Given the description of an element on the screen output the (x, y) to click on. 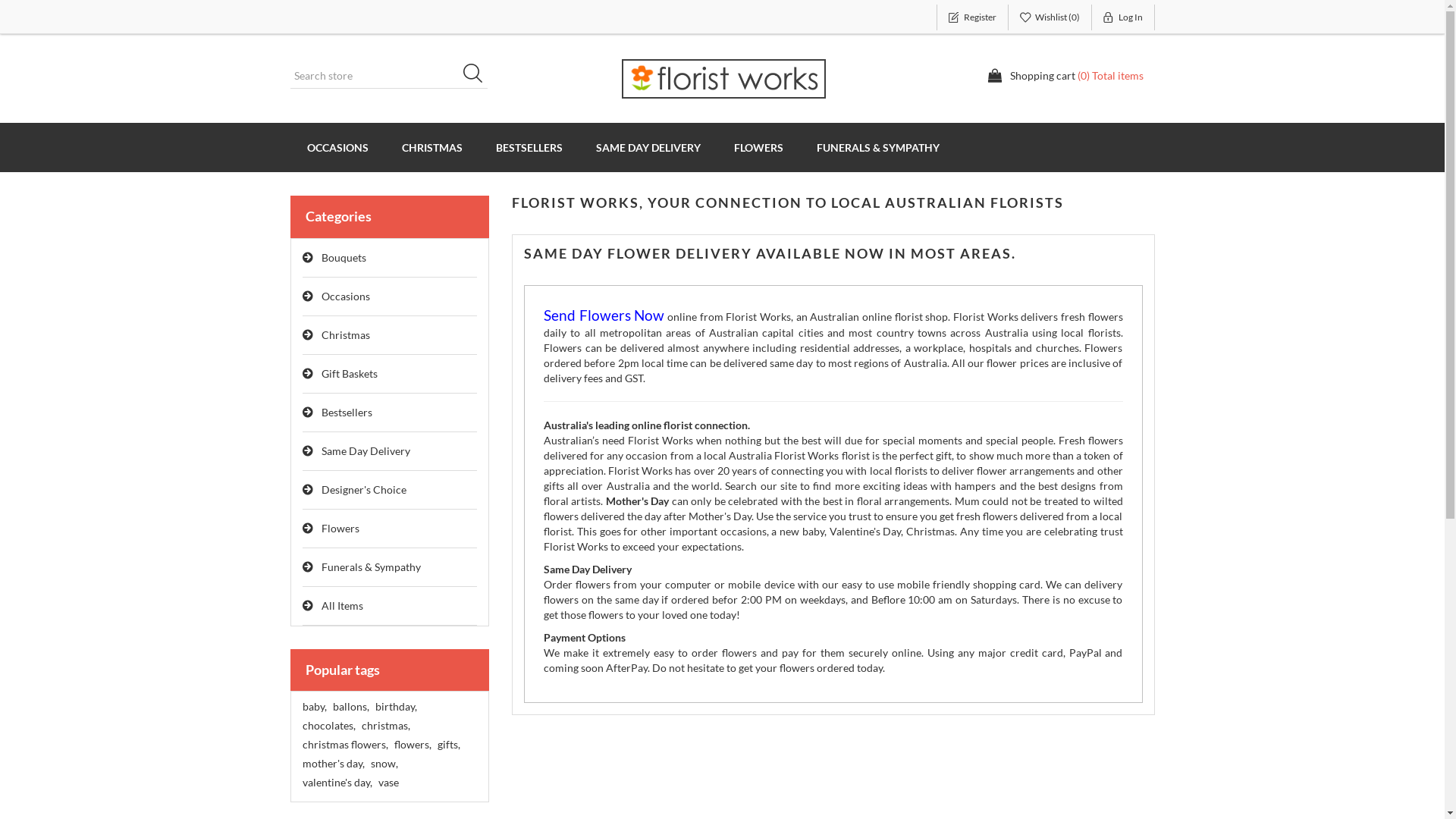
SAME DAY DELIVERY Element type: text (648, 147)
Same Day Delivery Element type: text (388, 451)
Register Element type: text (971, 17)
vase Element type: text (387, 782)
Shopping cart (0) Total items Element type: text (1065, 75)
Bouquets Element type: text (388, 257)
CHRISTMAS Element type: text (432, 147)
Christmas Element type: text (388, 335)
FLOWERS Element type: text (758, 147)
baby, Element type: text (313, 706)
FUNERALS & SYMPATHY Element type: text (877, 147)
christmas, Element type: text (384, 725)
Funerals & Sympathy Element type: text (388, 567)
Send Flowers Now Element type: text (603, 316)
Wishlist (0) Element type: text (1050, 17)
Flowers Element type: text (388, 528)
Bestsellers Element type: text (388, 412)
chocolates, Element type: text (327, 725)
birthday, Element type: text (395, 706)
valentine's day, Element type: text (336, 782)
OCCASIONS Element type: text (336, 147)
Gift Baskets Element type: text (388, 373)
mother's day, Element type: text (332, 763)
snow, Element type: text (383, 763)
BESTSELLERS Element type: text (529, 147)
gifts, Element type: text (447, 744)
Log In Element type: text (1123, 17)
Designer's Choice Element type: text (388, 489)
flowers, Element type: text (412, 744)
All Items Element type: text (388, 605)
Occasions Element type: text (388, 296)
christmas flowers, Element type: text (344, 744)
ballons, Element type: text (350, 706)
